Given the description of an element on the screen output the (x, y) to click on. 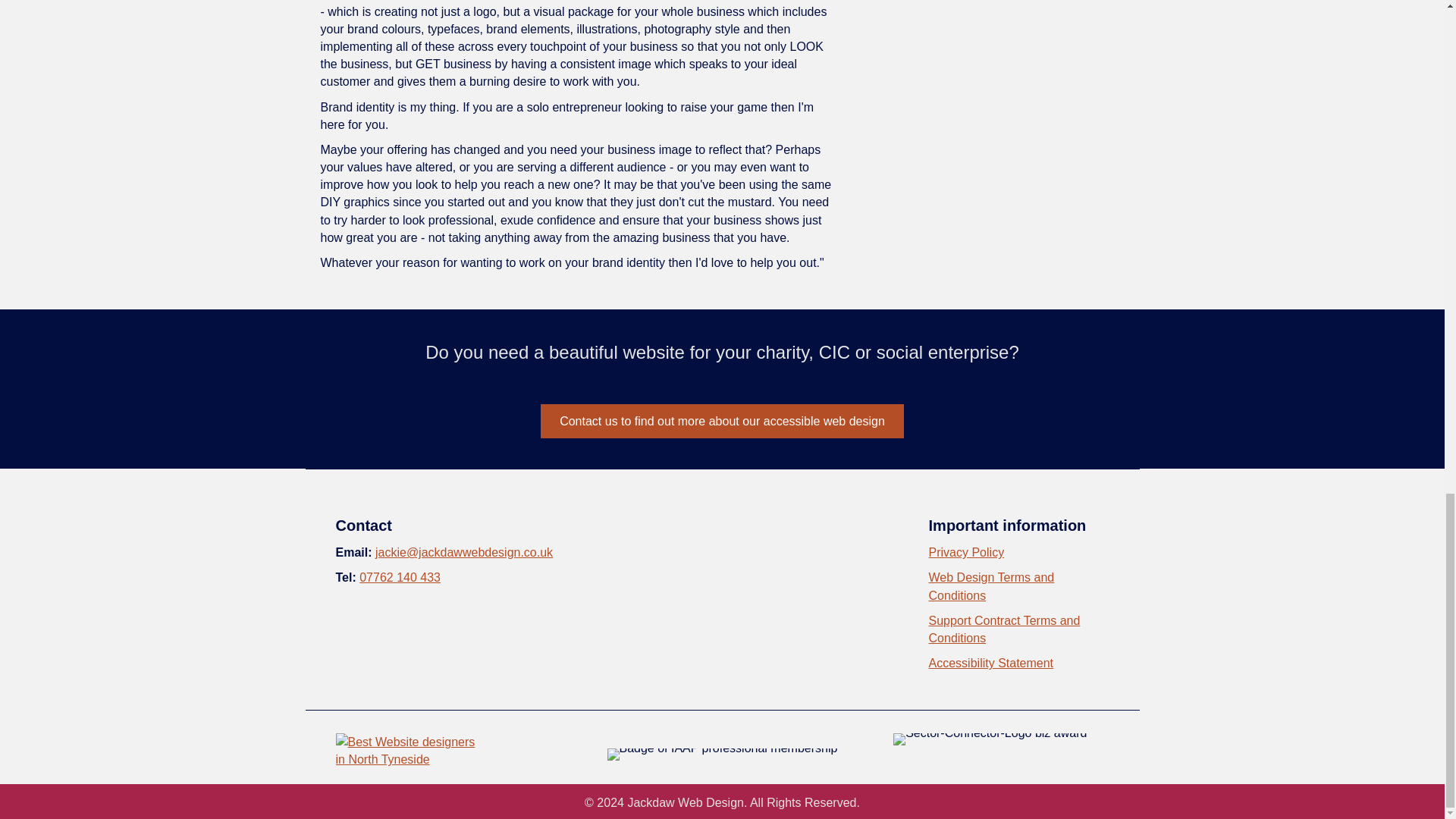
Support Contract Terms and Conditions (1004, 629)
Privacy Policy (966, 552)
Accessibility Statement (991, 662)
Sector-Connector-Logo biz award (989, 739)
Contact us to find out more about our accessible web design (722, 421)
Web Design Terms and Conditions (991, 585)
professional-member (722, 754)
07762 140 433 (400, 576)
